Given the description of an element on the screen output the (x, y) to click on. 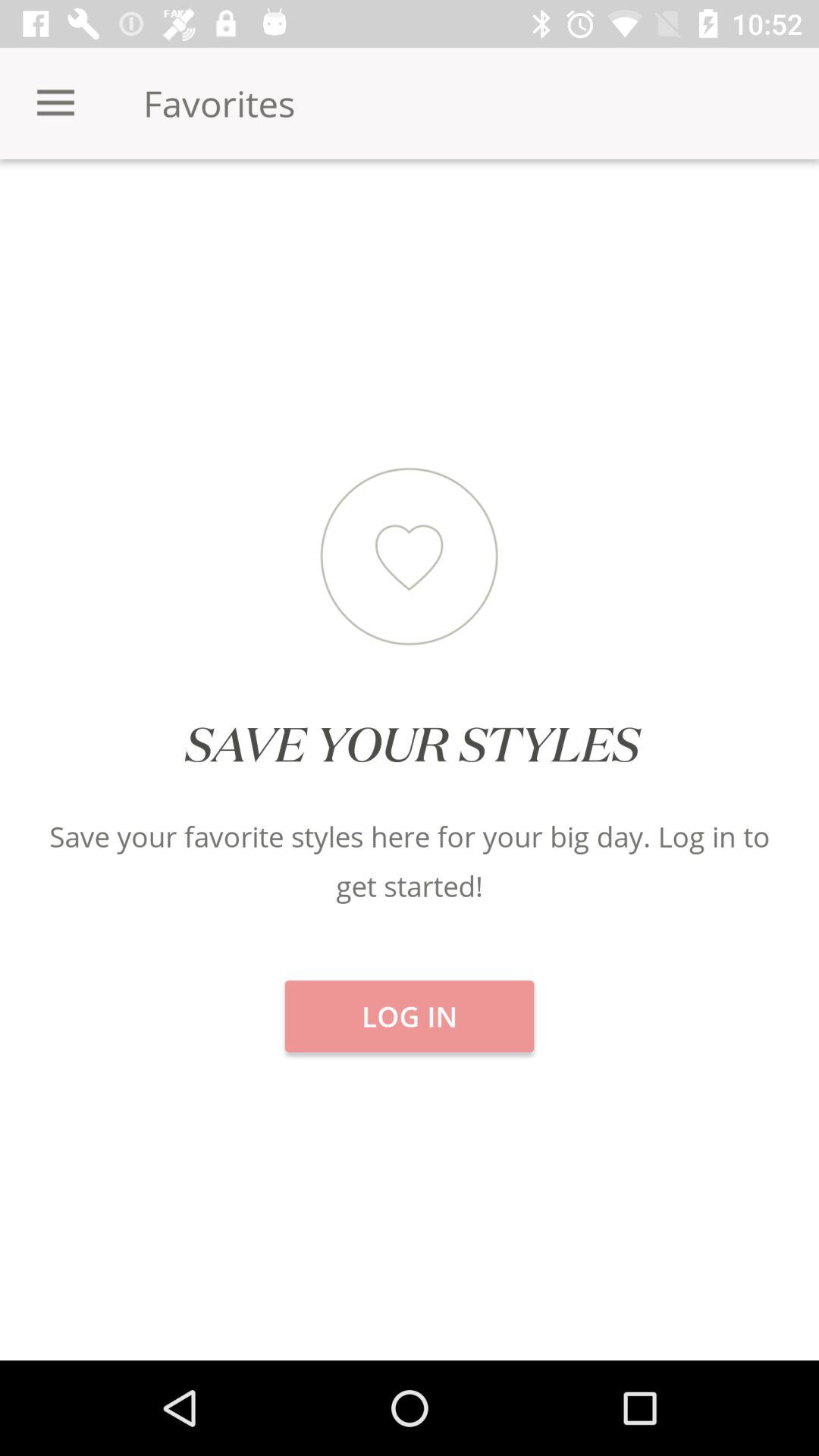
select brands at the top right corner (682, 212)
